Given the description of an element on the screen output the (x, y) to click on. 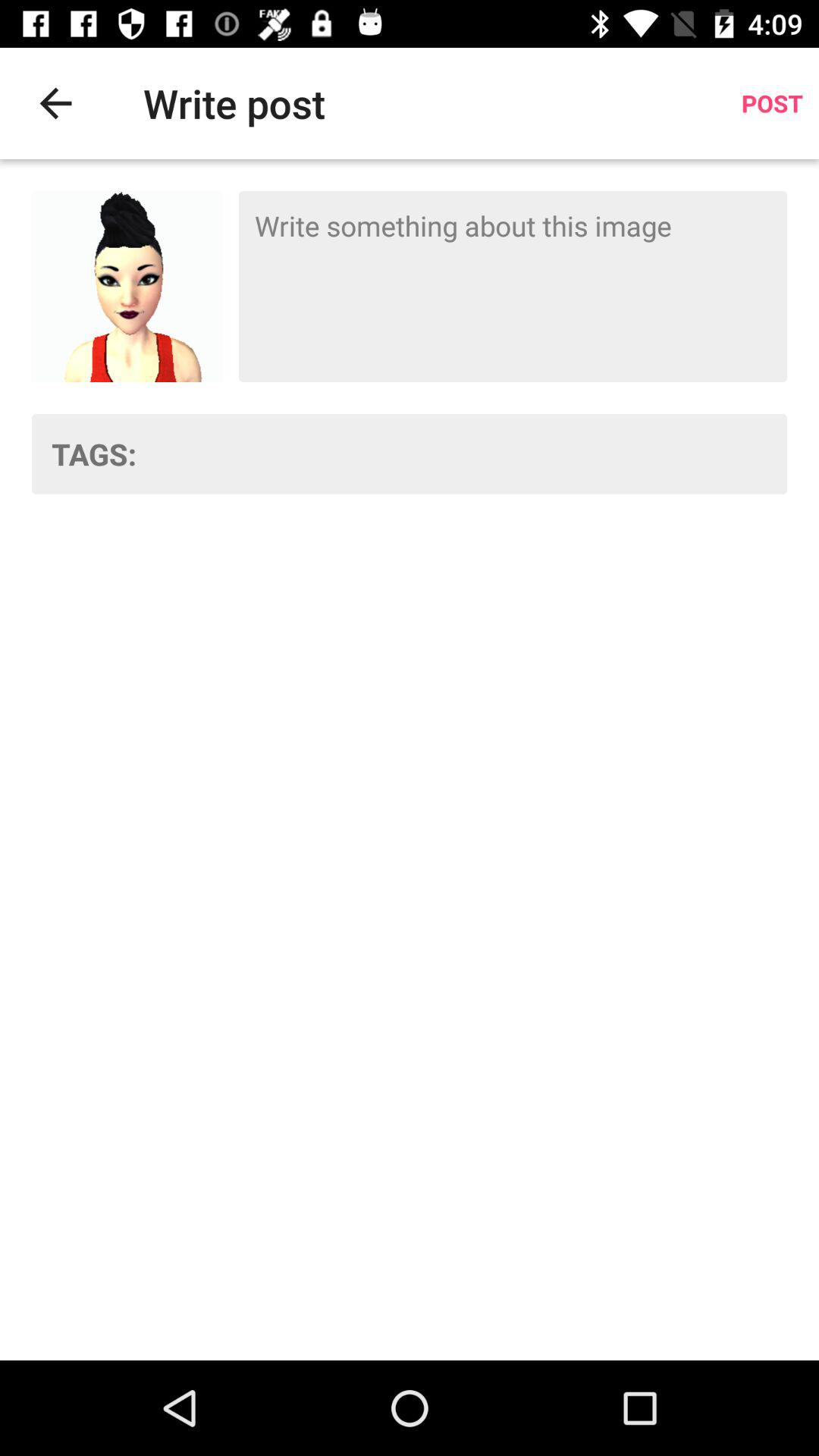
enter text field (512, 286)
